Given the description of an element on the screen output the (x, y) to click on. 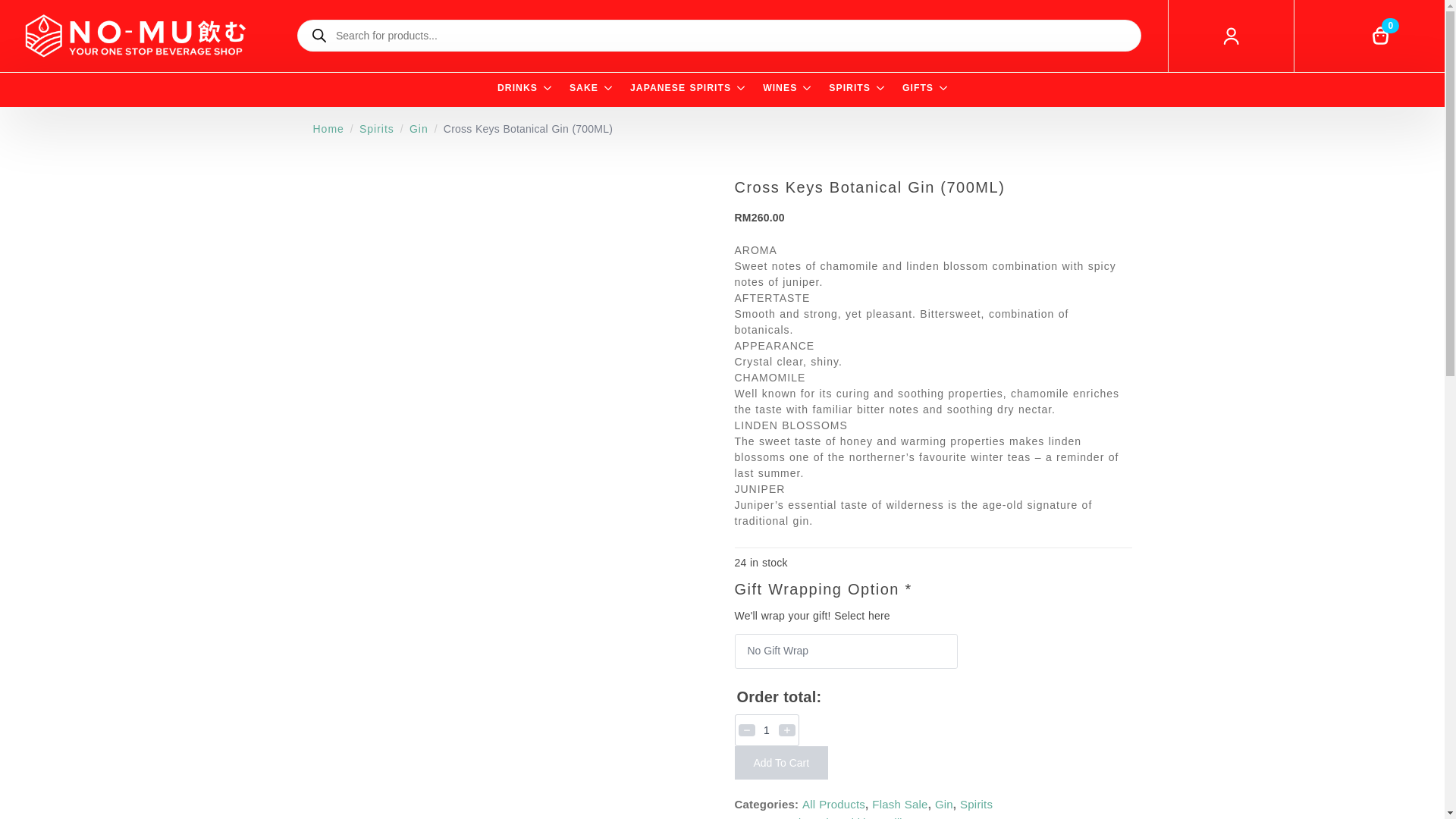
0 (1380, 35)
1 (765, 730)
JAPANESE SPIRITS (680, 89)
WINES (779, 89)
SAKE (583, 89)
DRINKS (517, 89)
